Given the description of an element on the screen output the (x, y) to click on. 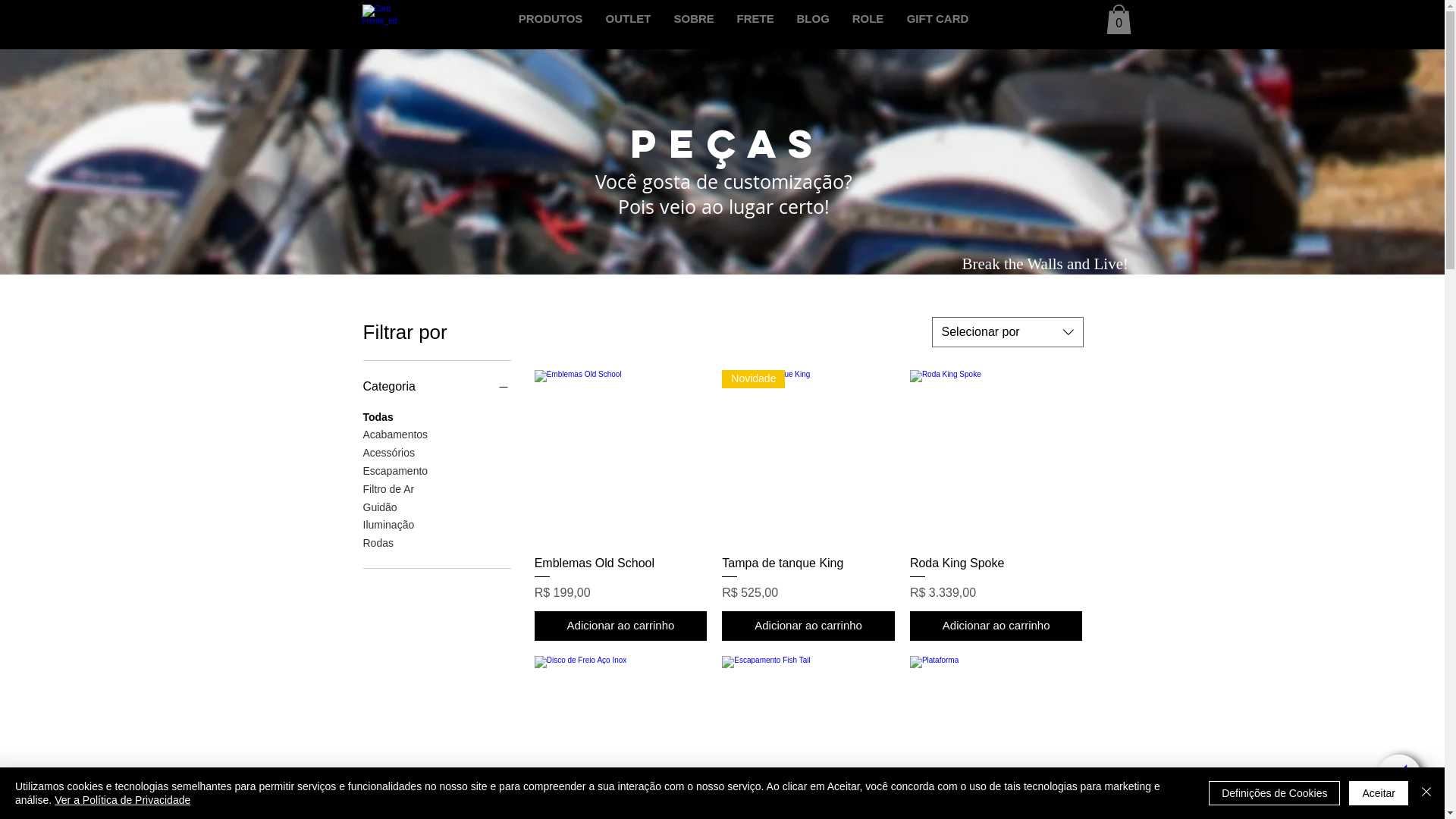
FRETE Element type: text (754, 18)
Adicionar ao carrinho Element type: text (620, 625)
Categoria Element type: text (436, 386)
Adicionar ao carrinho Element type: text (996, 625)
Aceitar Element type: text (1378, 793)
OUTLET Element type: text (628, 18)
SOBRE Element type: text (693, 18)
Novidade Element type: text (807, 456)
Adicionar ao carrinho Element type: text (807, 625)
ROLE Element type: text (867, 18)
GIFT CARD Element type: text (936, 18)
Selecionar por Element type: text (1006, 331)
BLOG Element type: text (812, 18)
0 Element type: text (1117, 19)
PRODUTOS Element type: text (549, 18)
